Given the description of an element on the screen output the (x, y) to click on. 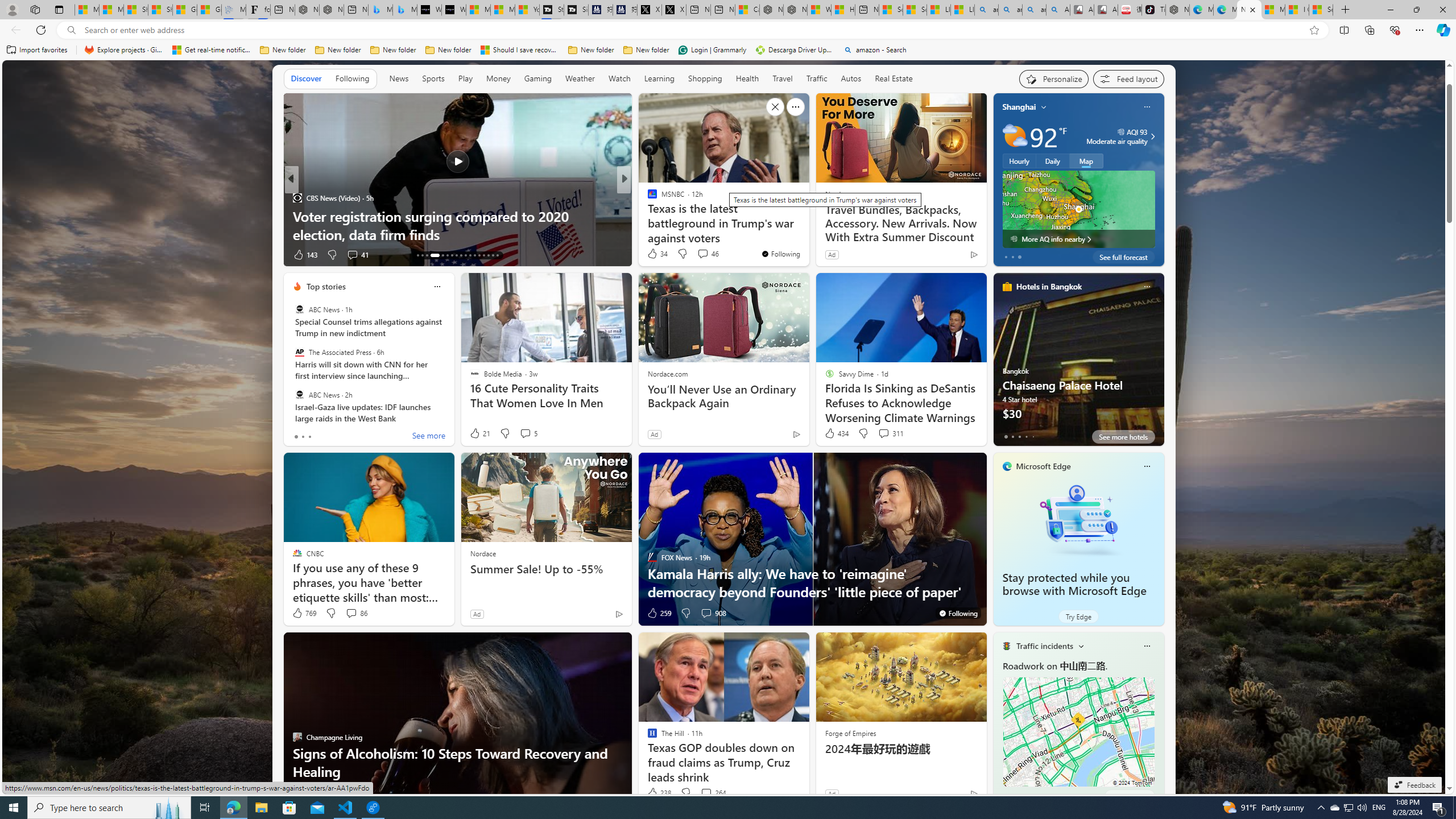
Moderate air quality (1150, 136)
View comments 90 Comment (6, 254)
Chaisaeng Palace Hotel (1078, 363)
View comments 86 Comment (355, 612)
TikTok (1153, 9)
Scientists Reconstructed Summer Temps Dating Back Centuries (807, 225)
Learning (658, 78)
View comments 15 Comment (704, 254)
AutomationID: tab-15 (426, 255)
